Given the description of an element on the screen output the (x, y) to click on. 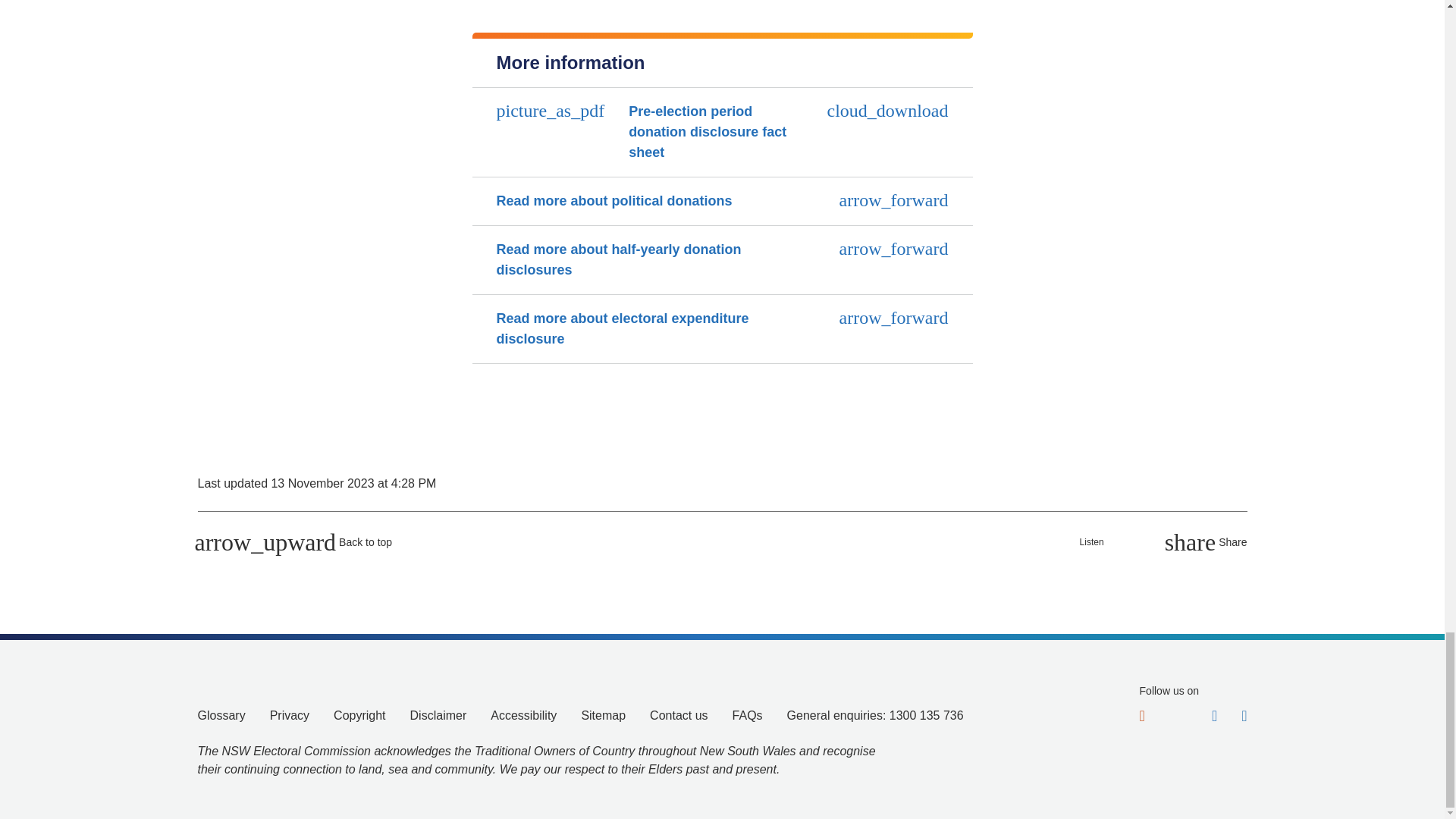
X (1178, 713)
Listen to this page using ReadSpeaker (1099, 542)
